Given the description of an element on the screen output the (x, y) to click on. 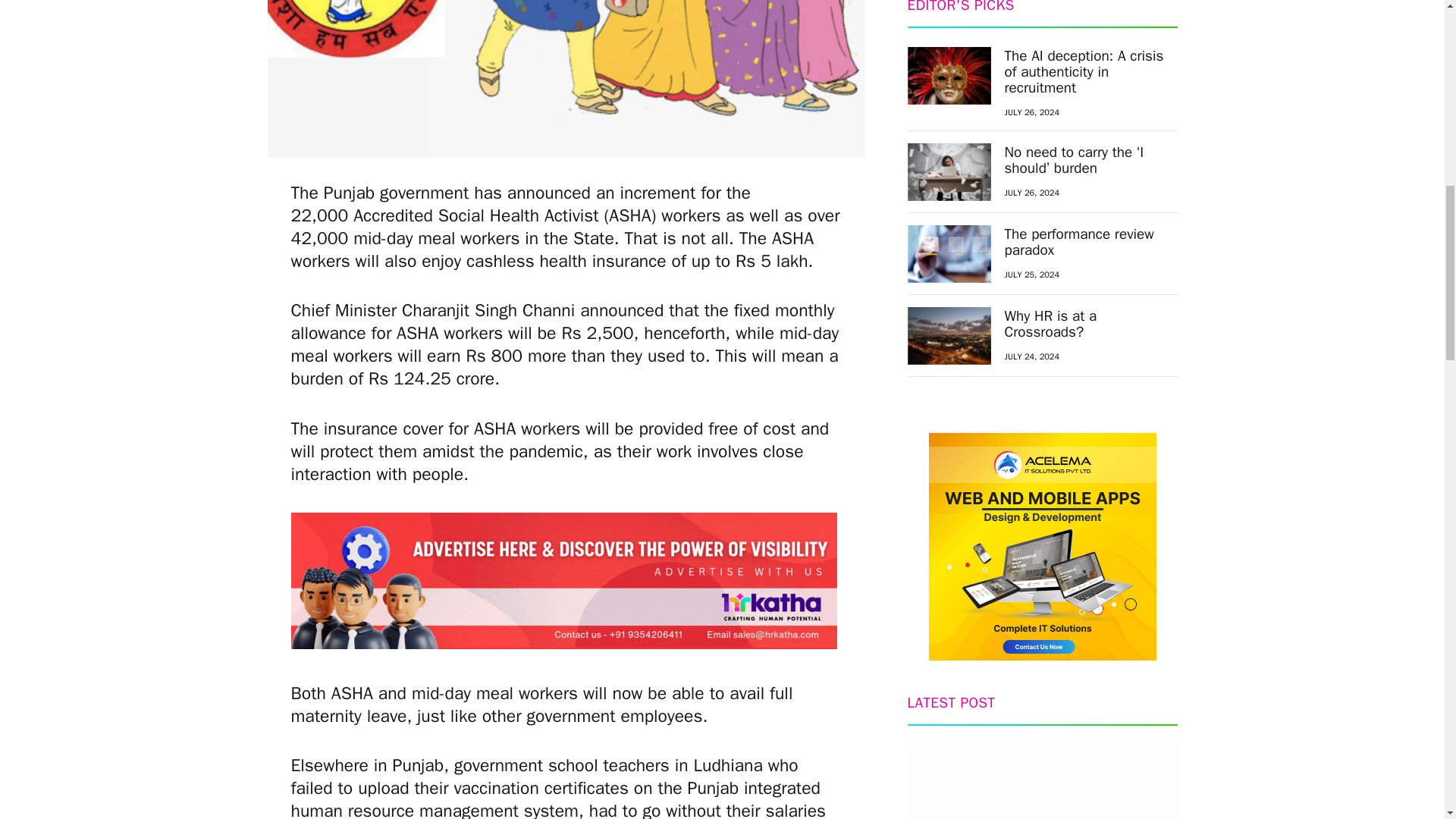
Pay hike for ASHA workers in Punjab (565, 79)
